Given the description of an element on the screen output the (x, y) to click on. 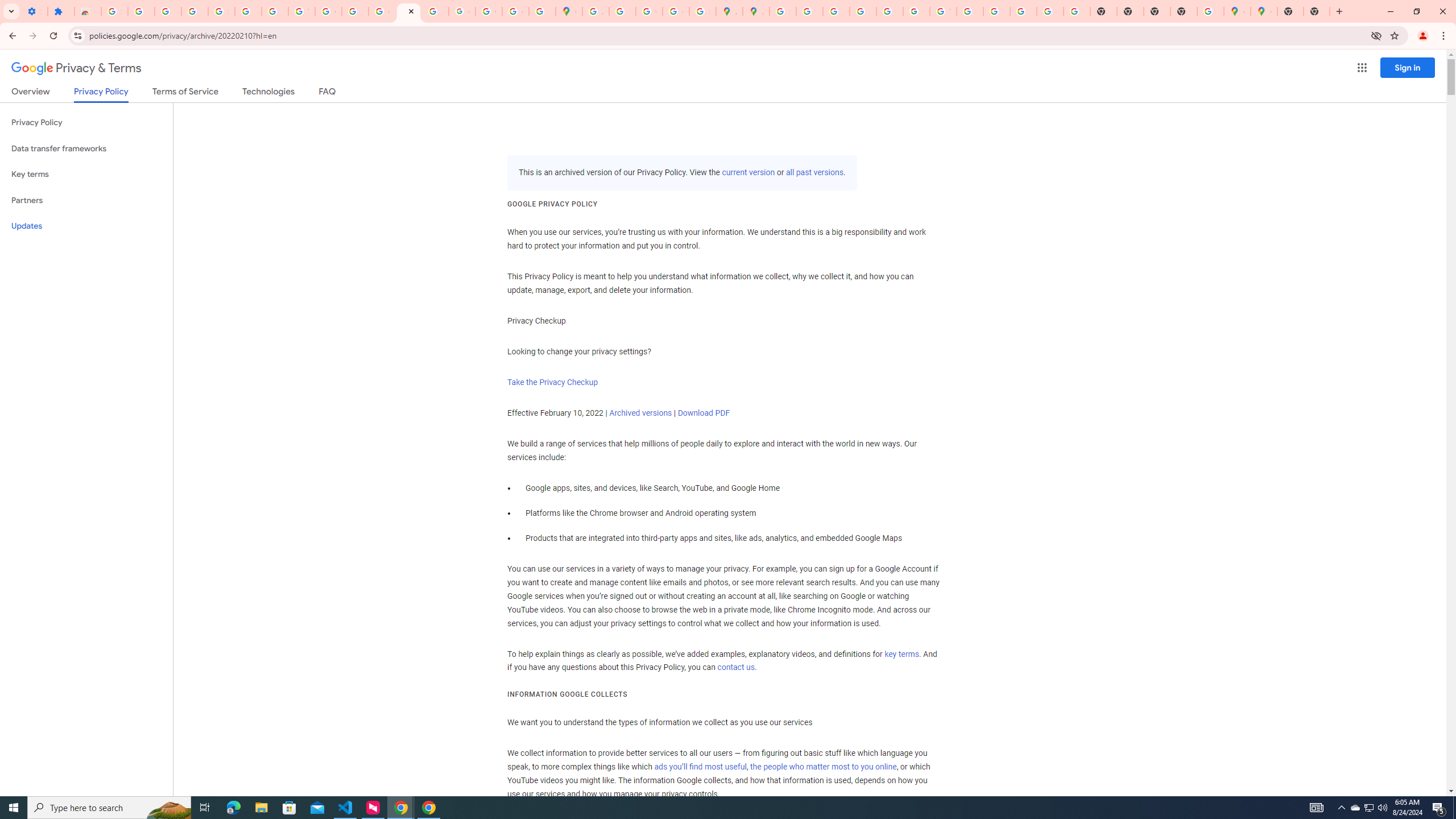
YouTube (943, 11)
Sign in - Google Accounts (782, 11)
YouTube (301, 11)
FAQ (327, 93)
https://scholar.google.com/ (355, 11)
